Given the description of an element on the screen output the (x, y) to click on. 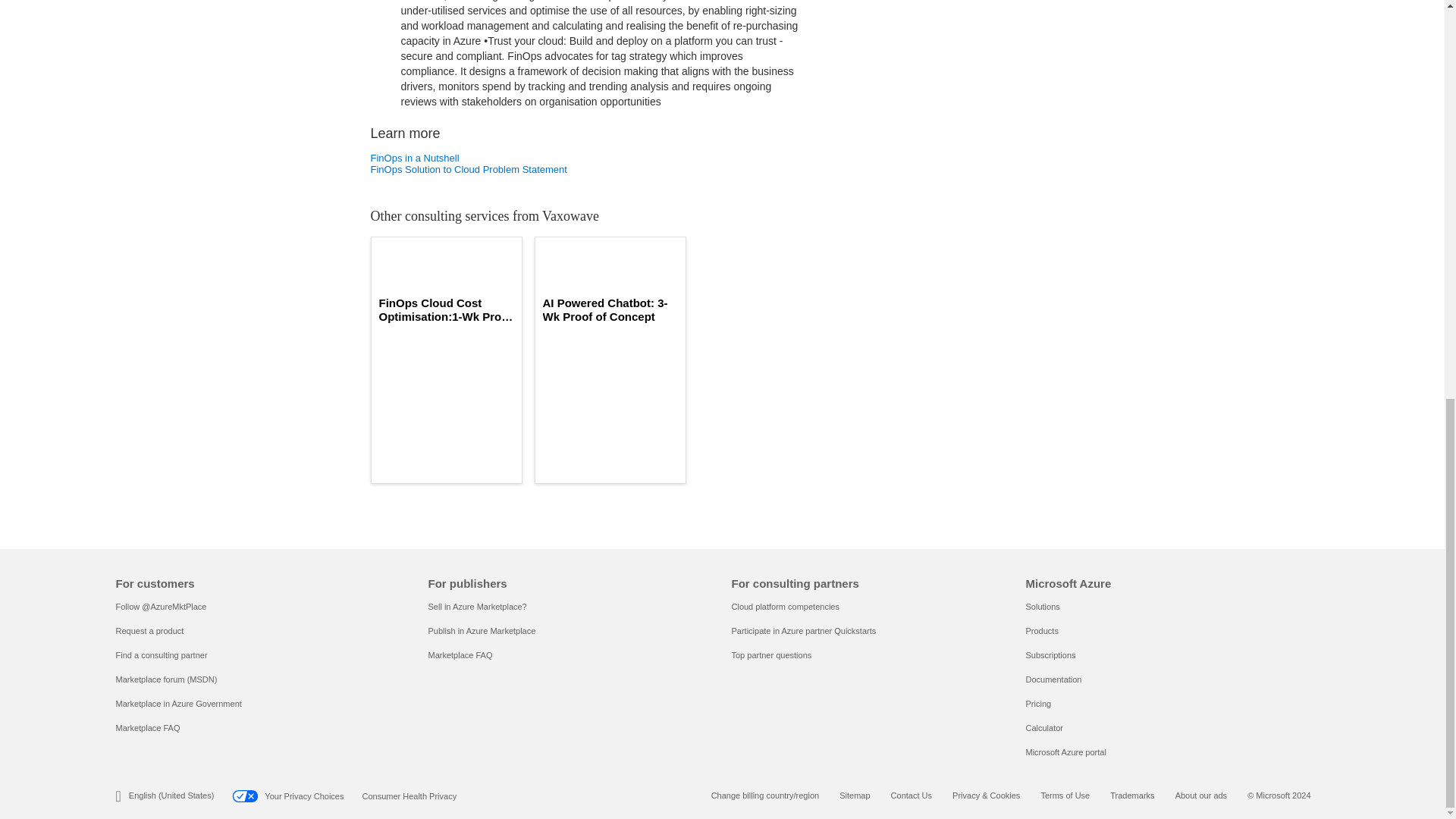
AI Powered Chatbot: 3-Wk Proof of Concept (610, 309)
FinOps Cloud Cost Optimisation:1-Wk Proof of Concept (445, 309)
